Given the description of an element on the screen output the (x, y) to click on. 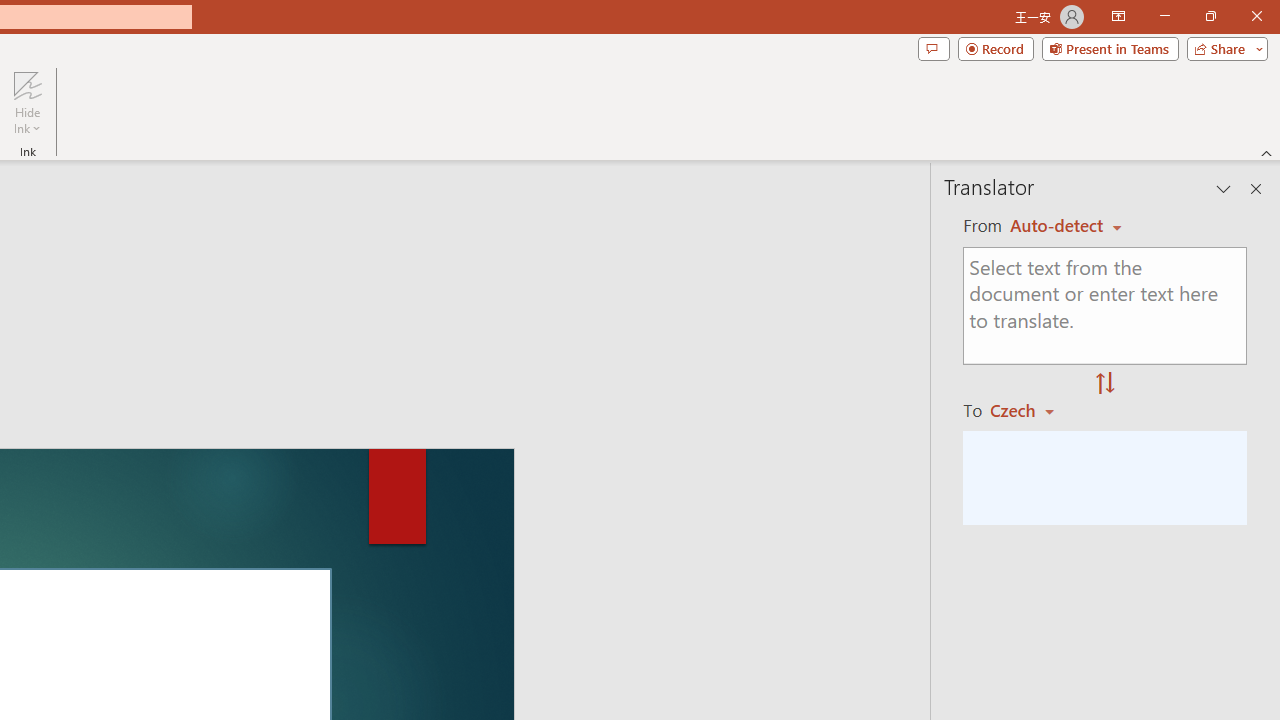
Czech (1030, 409)
Auto-detect (1066, 225)
